Given the description of an element on the screen output the (x, y) to click on. 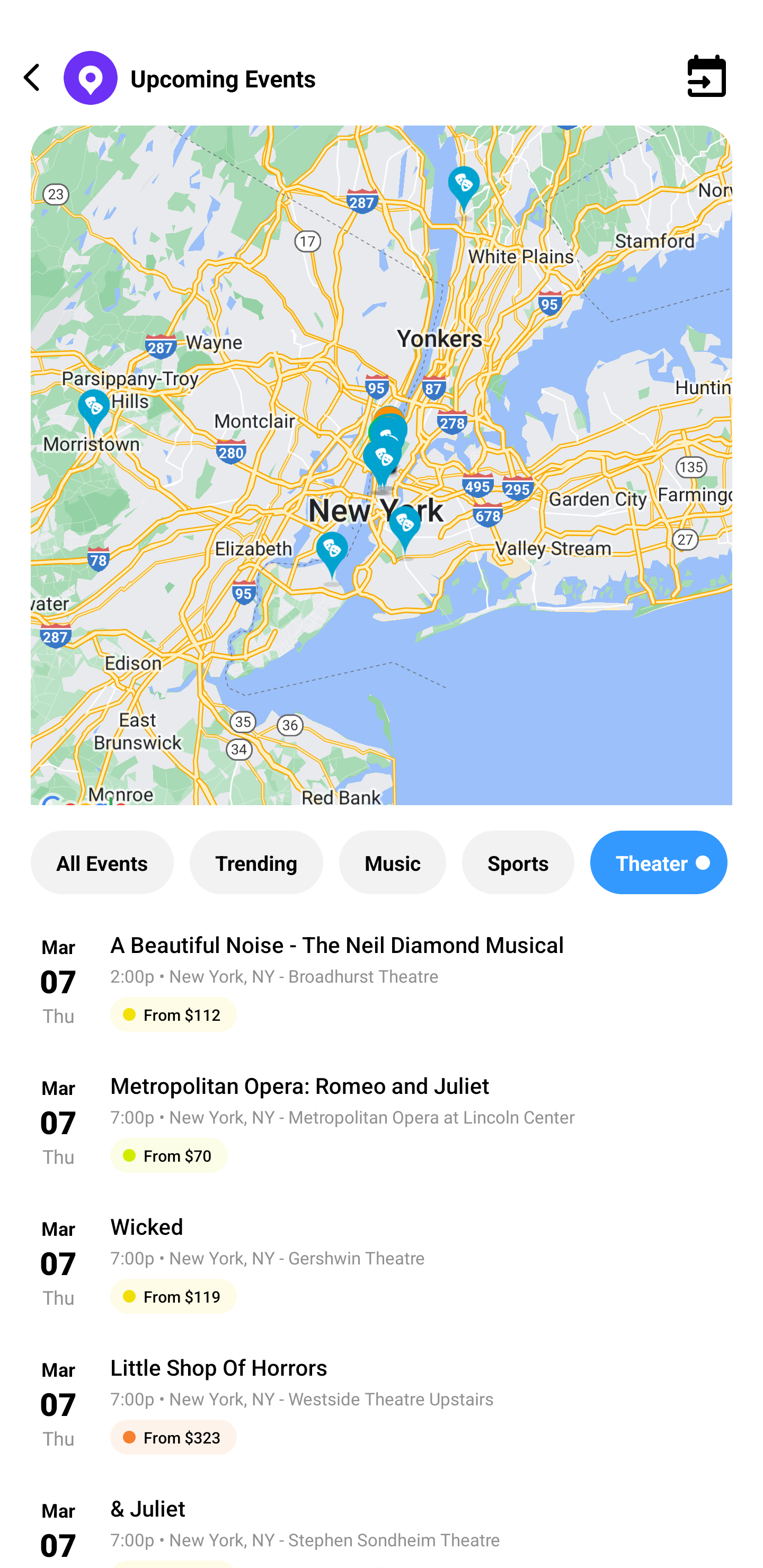
All Events (101, 862)
Trending (256, 862)
Music (392, 862)
Sports (518, 862)
Theater (658, 862)
